Given the description of an element on the screen output the (x, y) to click on. 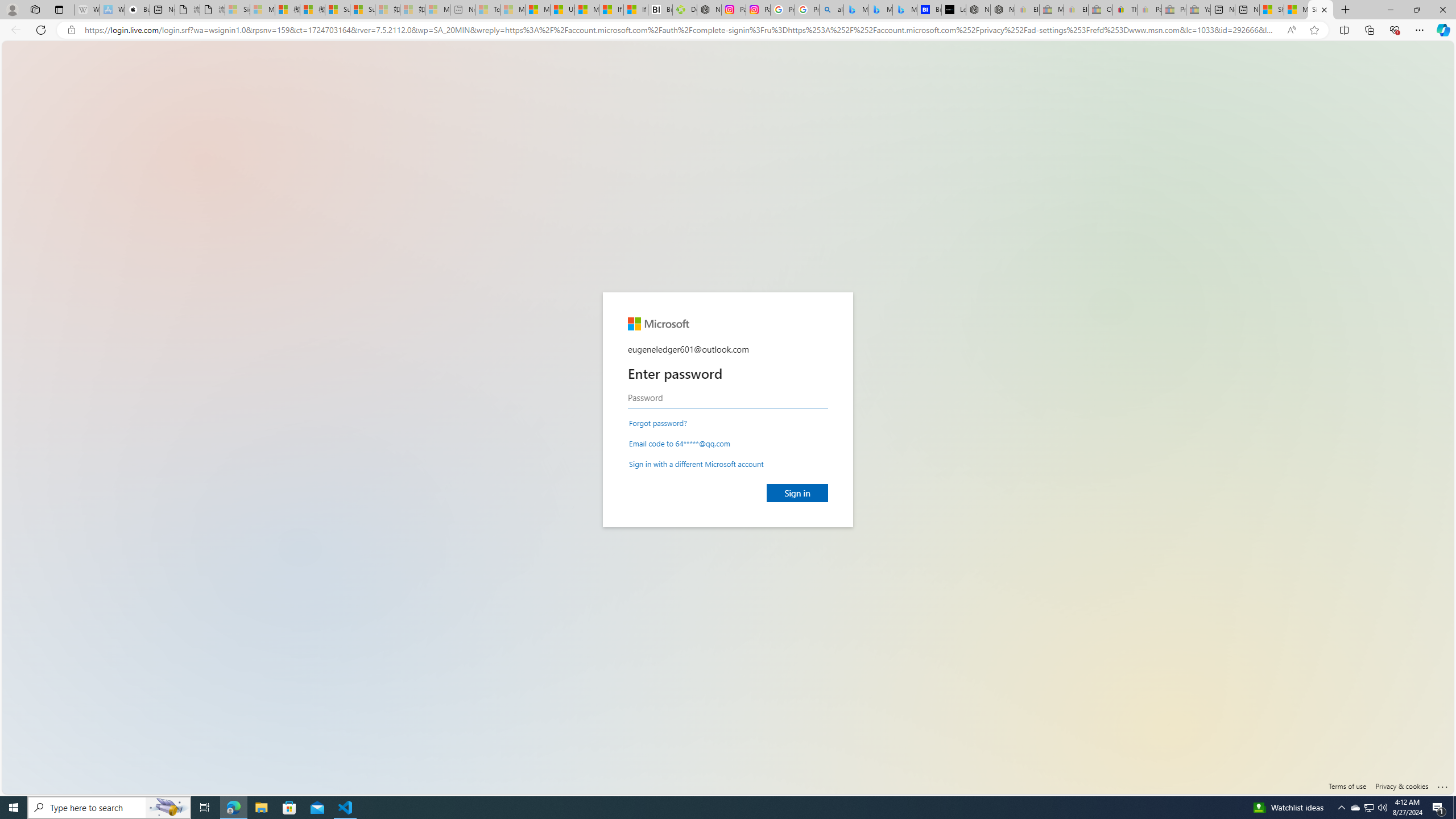
Sign in to your Microsoft account - Sleeping (236, 9)
Email code to 64*****@qq.com (679, 442)
Enter the password for eugeneledger601@outlook.com (727, 397)
Payments Terms of Use | eBay.com - Sleeping (1149, 9)
Marine life - MSN - Sleeping (512, 9)
Microsoft Services Agreement - Sleeping (261, 9)
